Given the description of an element on the screen output the (x, y) to click on. 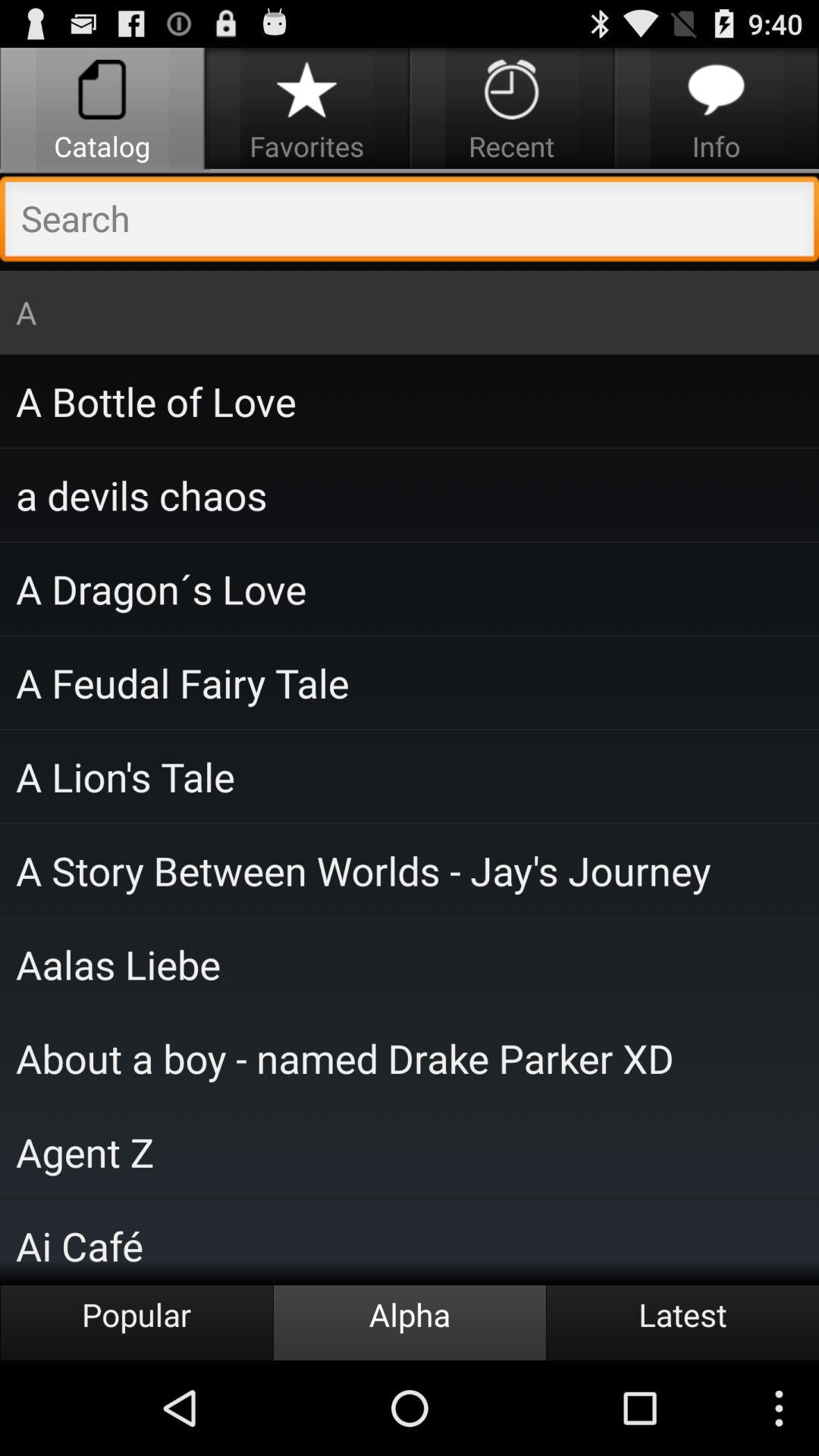
turn on the a feudal fairy icon (409, 682)
